Given the description of an element on the screen output the (x, y) to click on. 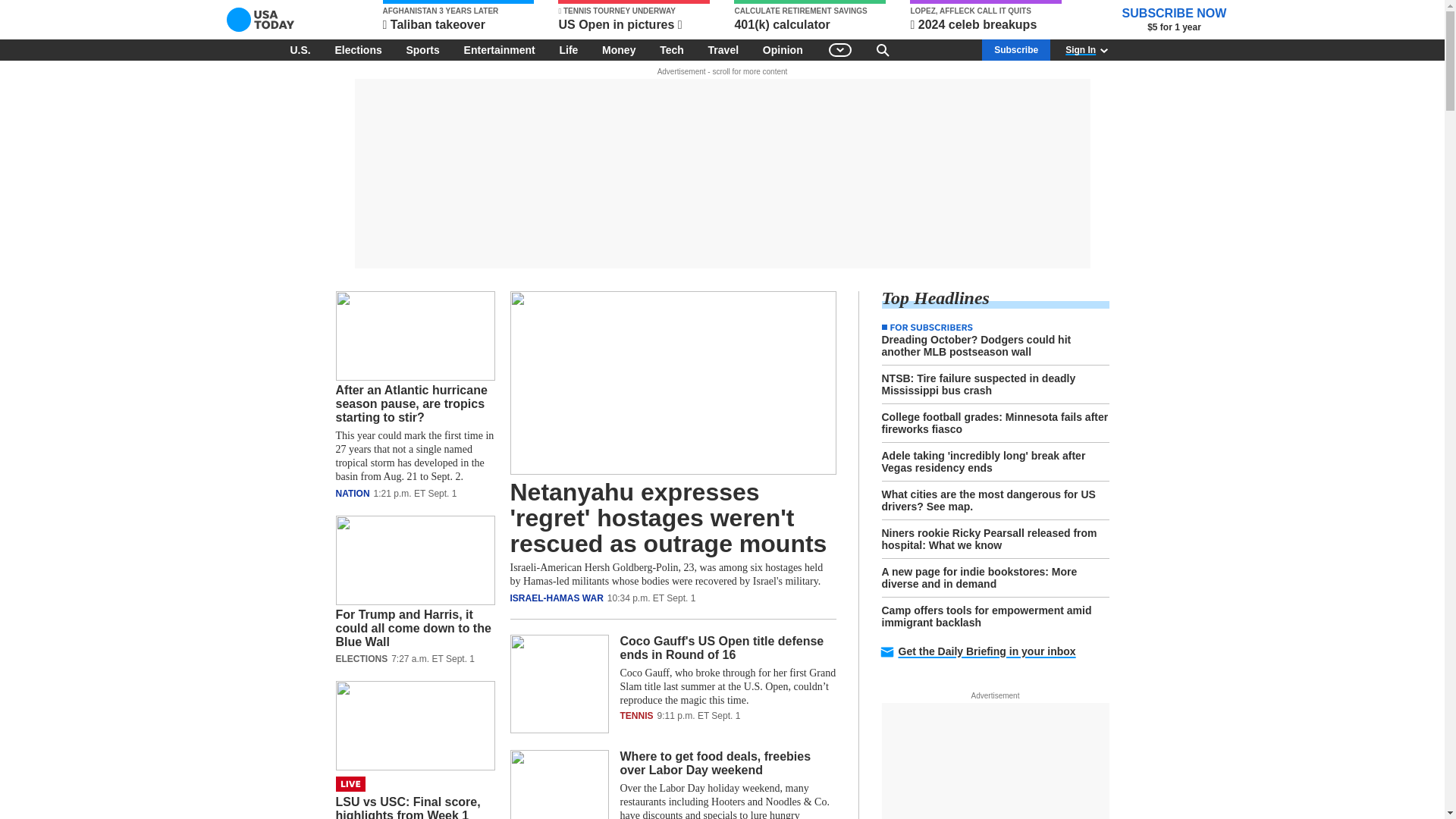
U.S. (299, 49)
Sports (421, 49)
Tech (671, 49)
Life (568, 49)
Opinion (782, 49)
Elections (357, 49)
Search (882, 49)
Money (618, 49)
Travel (722, 49)
Entertainment (500, 49)
